Given the description of an element on the screen output the (x, y) to click on. 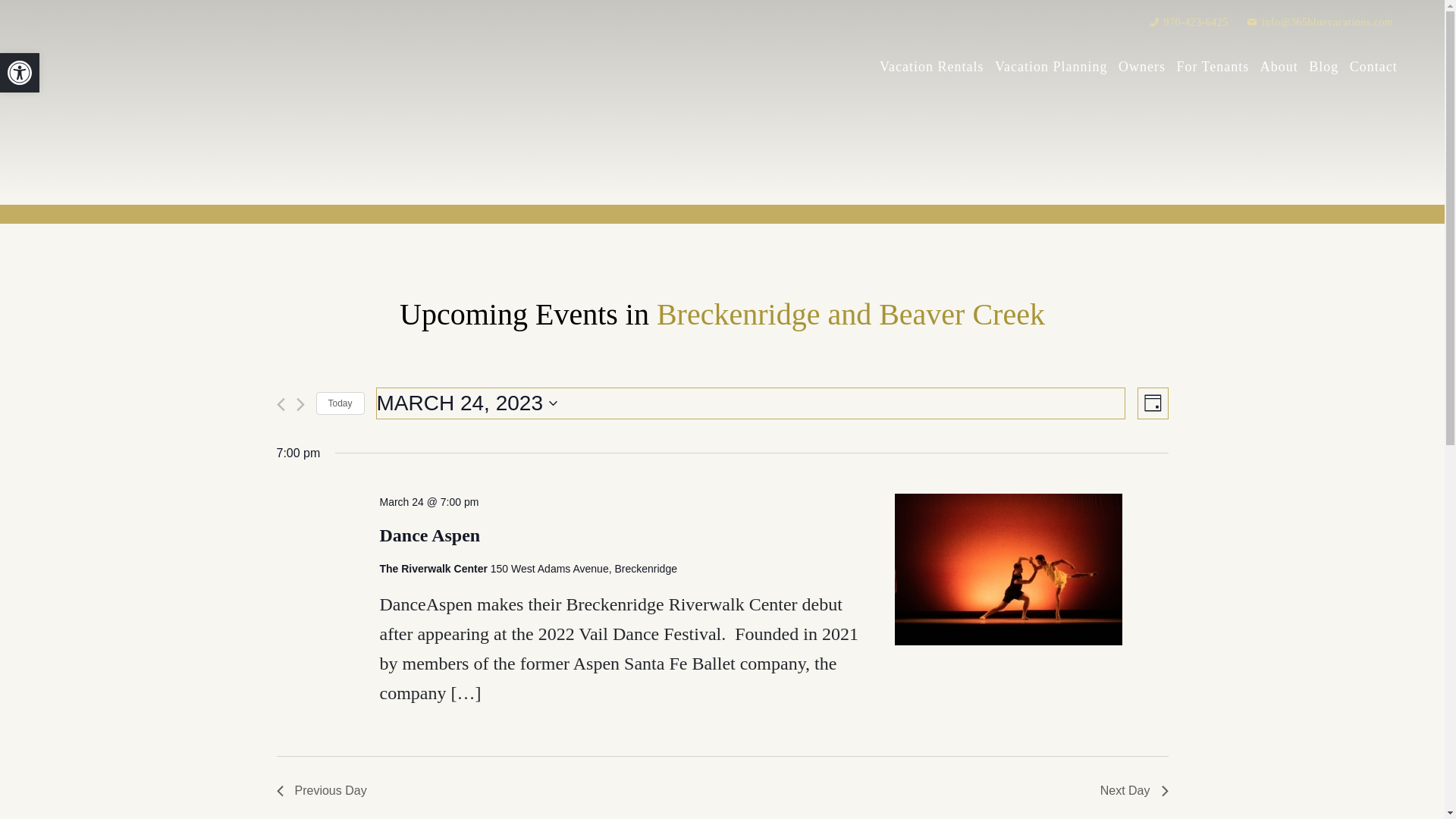
Vacation Planning Element type: text (1050, 67)
Previous Day Element type: text (321, 790)
Blog Element type: text (1323, 67)
Contact Element type: text (1373, 67)
Dance Aspen Element type: text (429, 535)
Dance Aspen Element type: hover (1030, 571)
Today Element type: text (339, 403)
365 BLUE VACATIONS Element type: text (157, 77)
Previous day Element type: hover (280, 404)
Open toolbar
Accessibility Tools Element type: text (19, 72)
Vacation Rentals Element type: text (931, 67)
About Element type: text (1279, 67)
Next day Element type: hover (299, 404)
970-423-6425 Element type: text (1188, 22)
Next Day Element type: text (1134, 790)
MARCH 24, 2023 Element type: text (750, 403)
Owners Element type: text (1141, 67)
DAY Element type: text (1152, 403)
For Tenants Element type: text (1212, 67)
dance-aspen Element type: hover (1008, 568)
info@365bluevacations.com Element type: text (1319, 22)
